Given the description of an element on the screen output the (x, y) to click on. 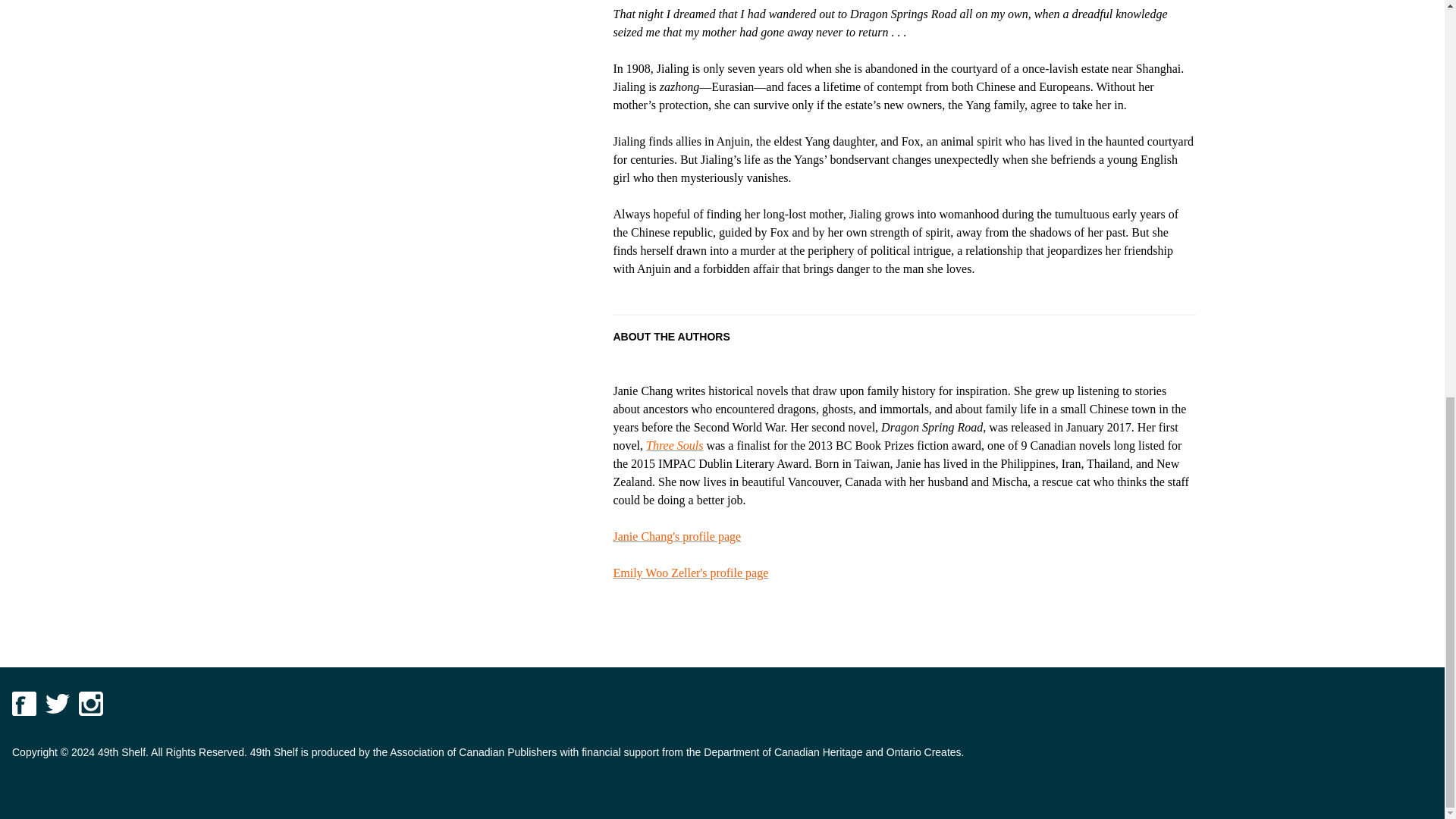
Visit us on Facebook (23, 703)
Visit us on Twitter (57, 703)
Janie Chang's profile page (676, 535)
FACEBOOK (23, 703)
Emily Woo Zeller's profile page (690, 572)
Three Souls (674, 445)
Visit us on Instagram (90, 703)
